Given the description of an element on the screen output the (x, y) to click on. 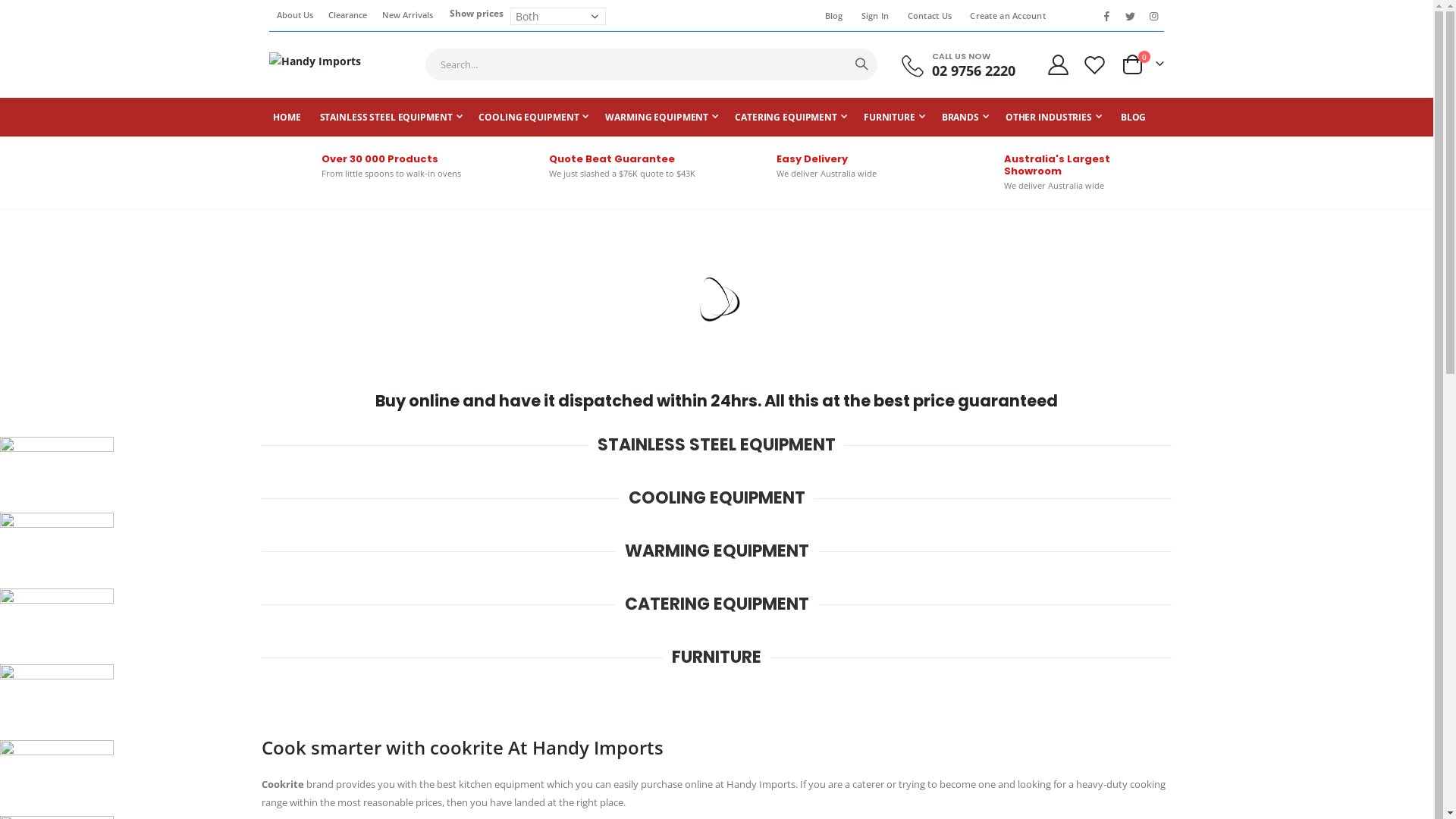
02 9756 2220 Element type: text (973, 70)
WARMING EQUIPMENT Element type: text (661, 116)
Cart
0 Element type: text (1142, 64)
About Us Element type: text (294, 14)
Twitter Element type: hover (1129, 15)
CLICK HERE Element type: text (53, 246)
My Account Element type: hover (1057, 64)
HOME Element type: text (286, 116)
Wishlist Element type: hover (1094, 64)
Australia'S Largest Showroom Element type: text (1057, 164)
CLICK HERE Element type: text (53, 300)
Facebook Element type: hover (1106, 15)
STAINLESS STEEL EQUIPMENT Element type: text (391, 116)
Quote Beat Guarantee Element type: text (611, 158)
Search Element type: hover (861, 64)
Cook smarter with cookrite At Handy Imports Element type: text (462, 746)
CATERING EQUIPMENT Element type: text (790, 116)
Clearance Element type: text (347, 14)
OTHER INDUSTRIES Element type: text (1053, 116)
Contact Us Element type: text (926, 15)
COOLING EQUIPMENT Element type: text (533, 116)
BRANDS Element type: text (965, 116)
instagram Element type: hover (1153, 15)
BLOG Element type: text (1133, 116)
Blog Element type: text (830, 15)
Easy Delivery Element type: text (811, 158)
FURNITURE Element type: text (893, 116)
CLICK HERE Element type: text (53, 355)
Sign In Element type: text (872, 15)
New Arrivals Element type: text (407, 14)
Over 30 000 Products Element type: text (379, 158)
Create an Account Element type: text (1004, 15)
